Given the description of an element on the screen output the (x, y) to click on. 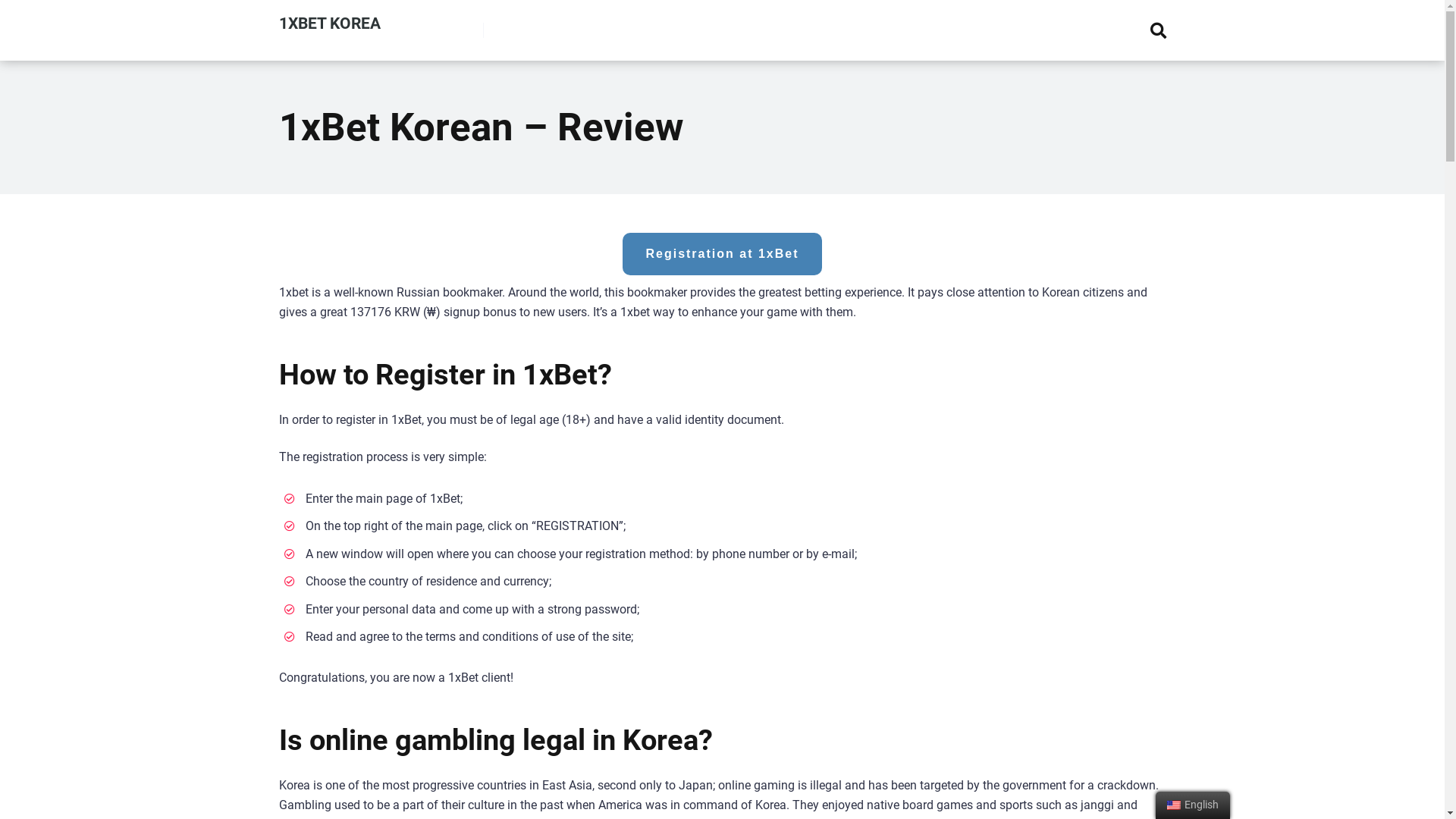
Registration at 1xBet Element type: text (721, 253)
English Element type: hover (1173, 804)
1XBET KOREA Element type: text (329, 17)
